Given the description of an element on the screen output the (x, y) to click on. 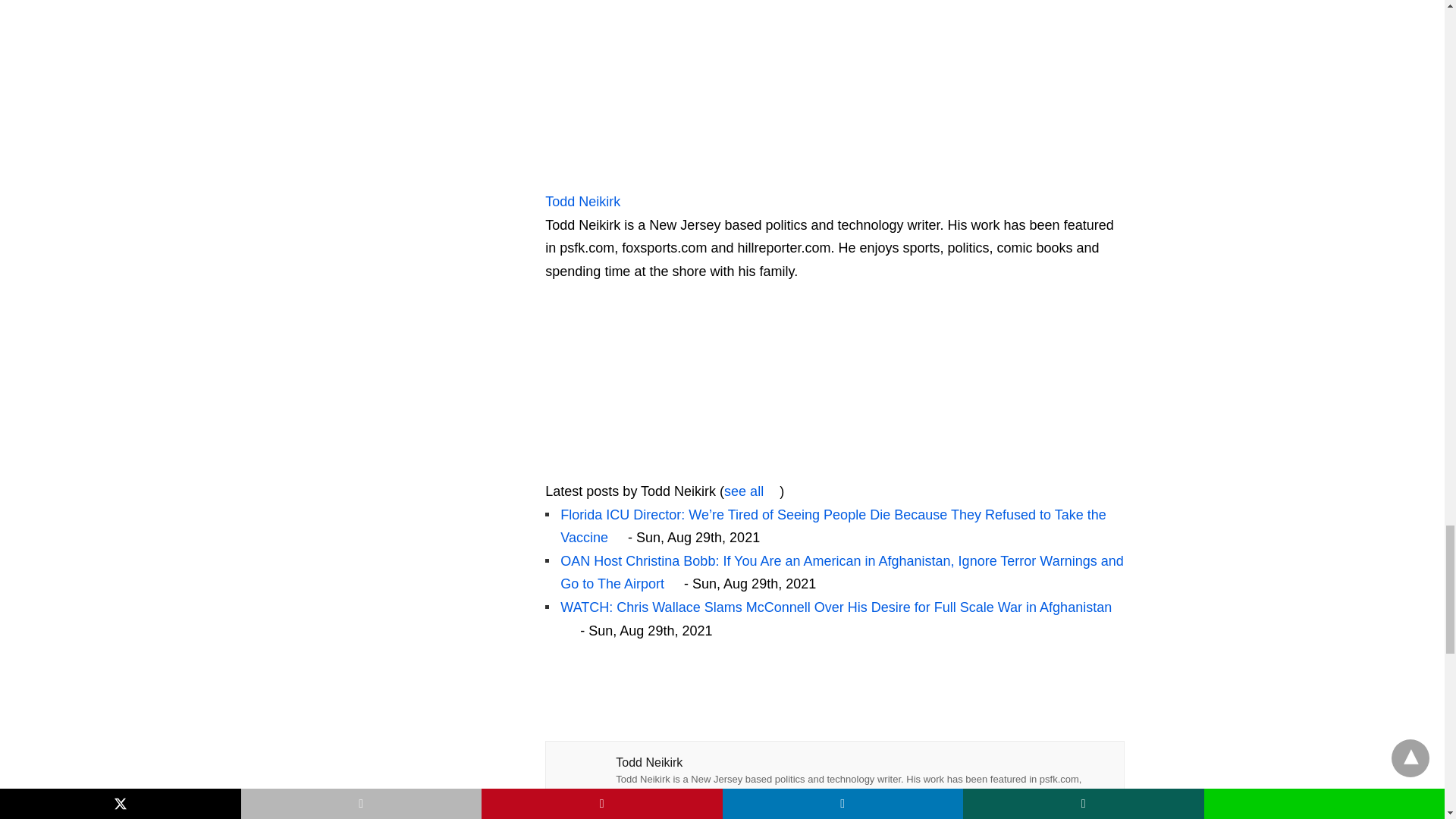
see all (750, 491)
Todd Neikirk (639, 467)
Todd Neikirk (590, 201)
Todd Neikirk (639, 177)
